Given the description of an element on the screen output the (x, y) to click on. 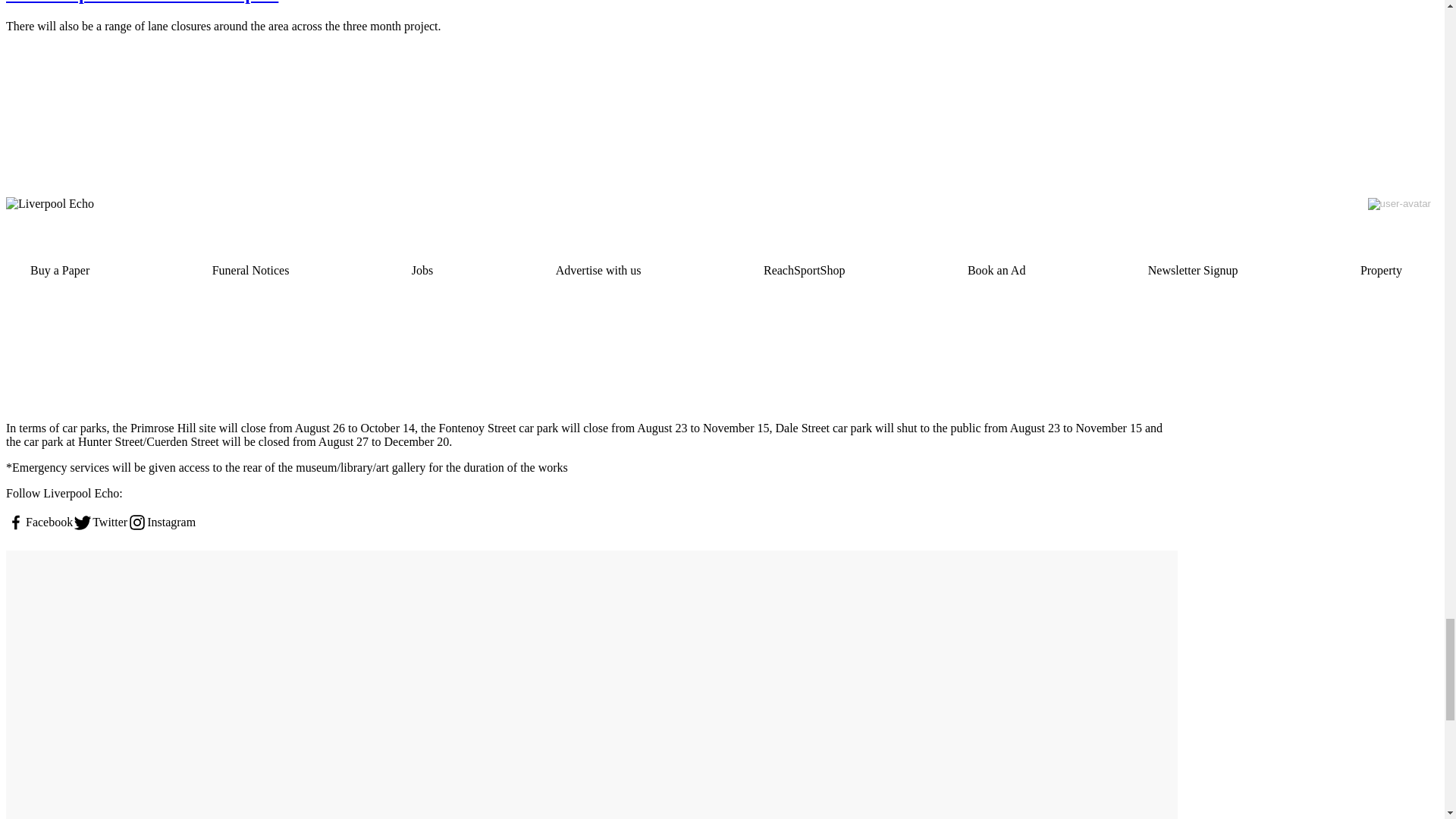
Instagram (161, 522)
Twitter (100, 522)
Facebook (38, 522)
